Given the description of an element on the screen output the (x, y) to click on. 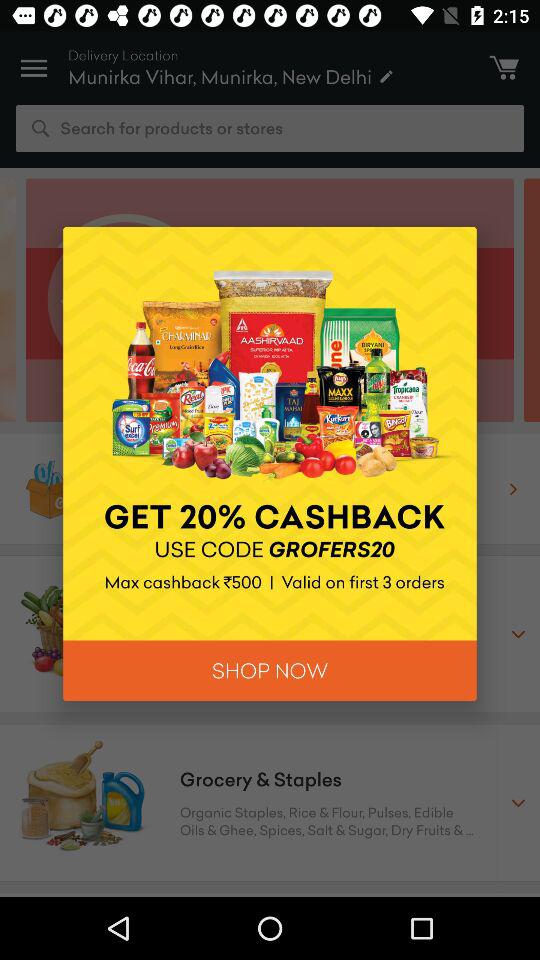
flip to shop now item (269, 670)
